Given the description of an element on the screen output the (x, y) to click on. 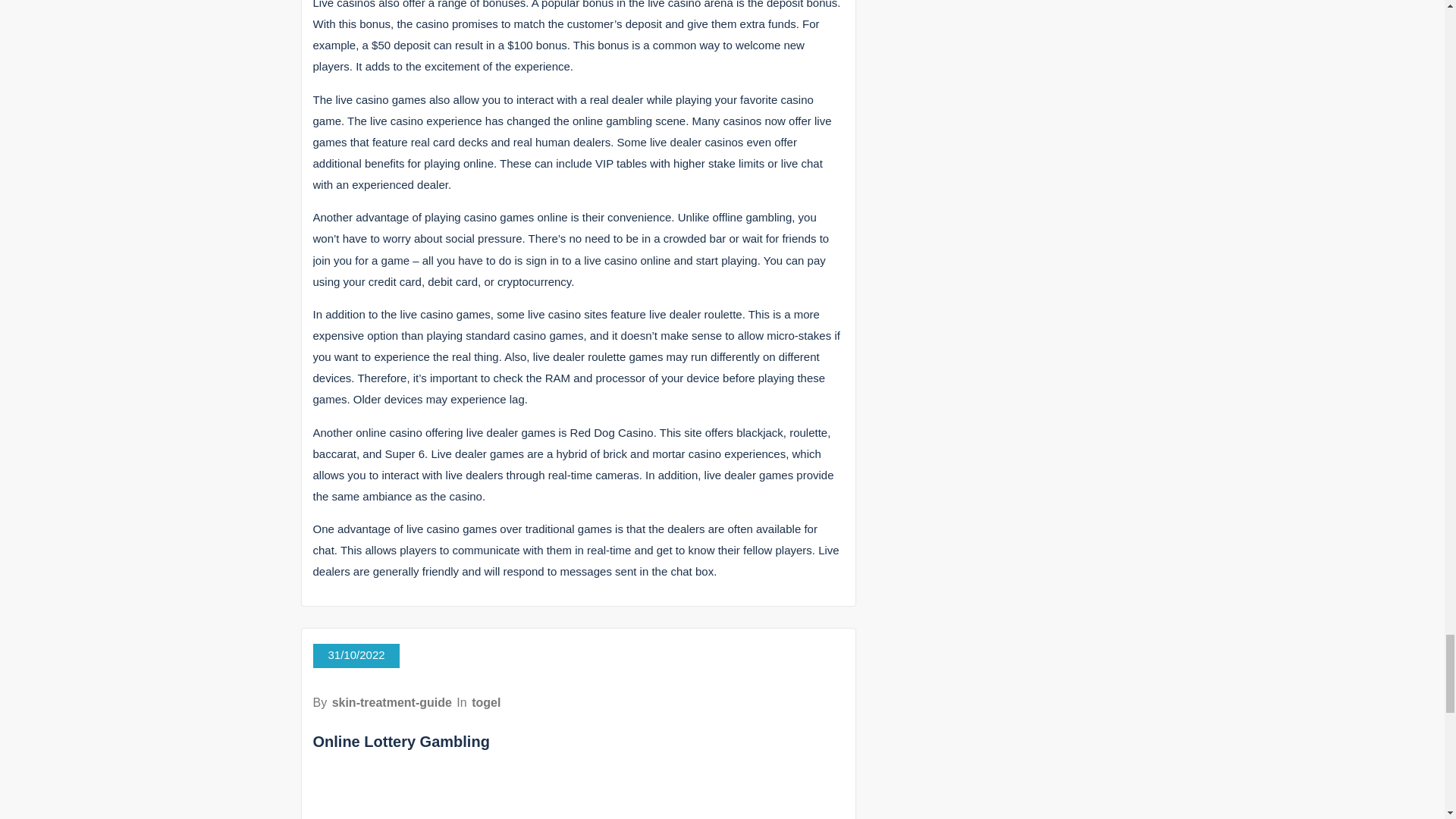
togel (486, 702)
skin-treatment-guide (391, 702)
Online Lottery Gambling (401, 741)
